Given the description of an element on the screen output the (x, y) to click on. 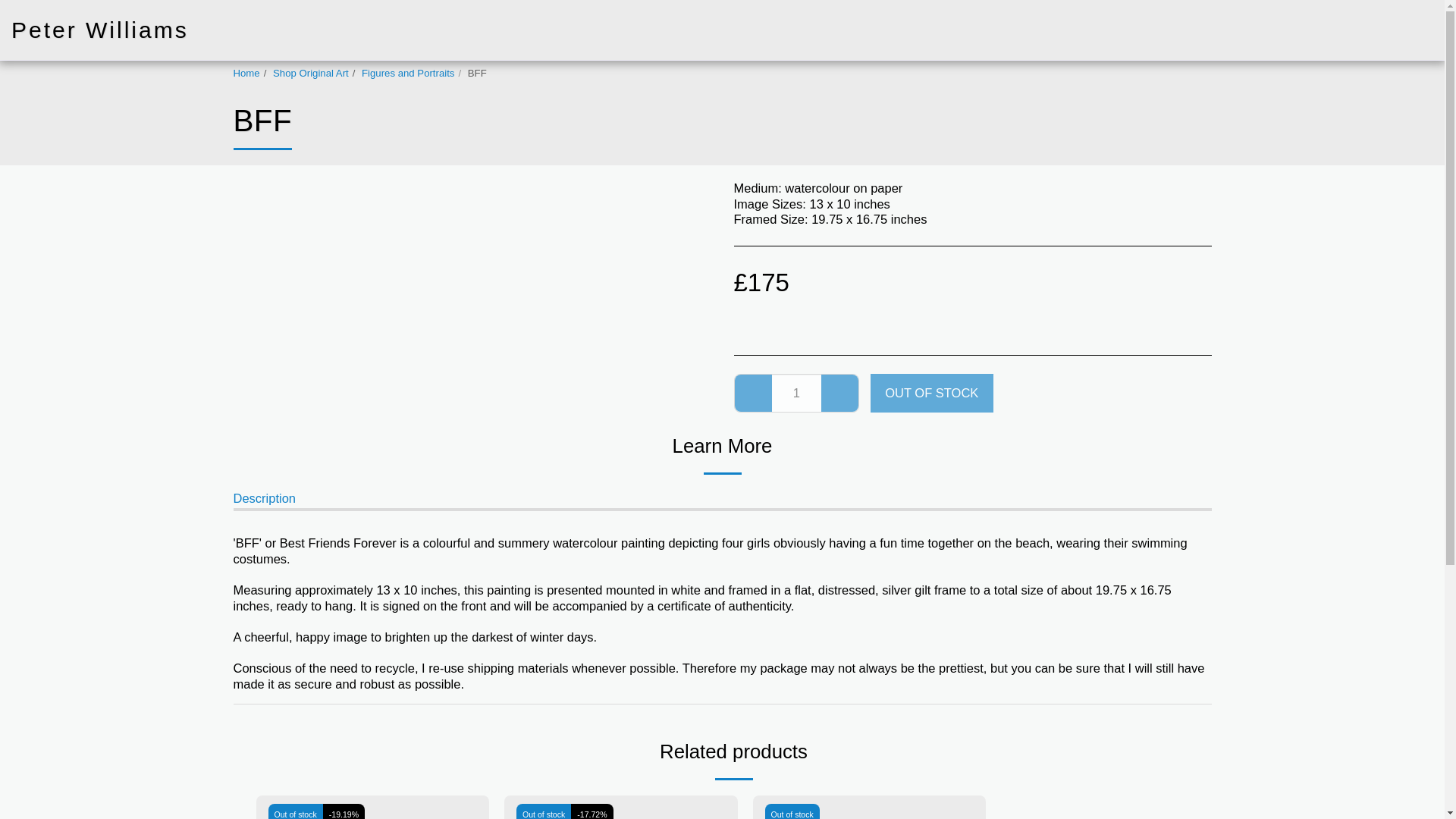
This product is out of stock. (796, 392)
Peter Williams (100, 30)
1 (796, 392)
